Given the description of an element on the screen output the (x, y) to click on. 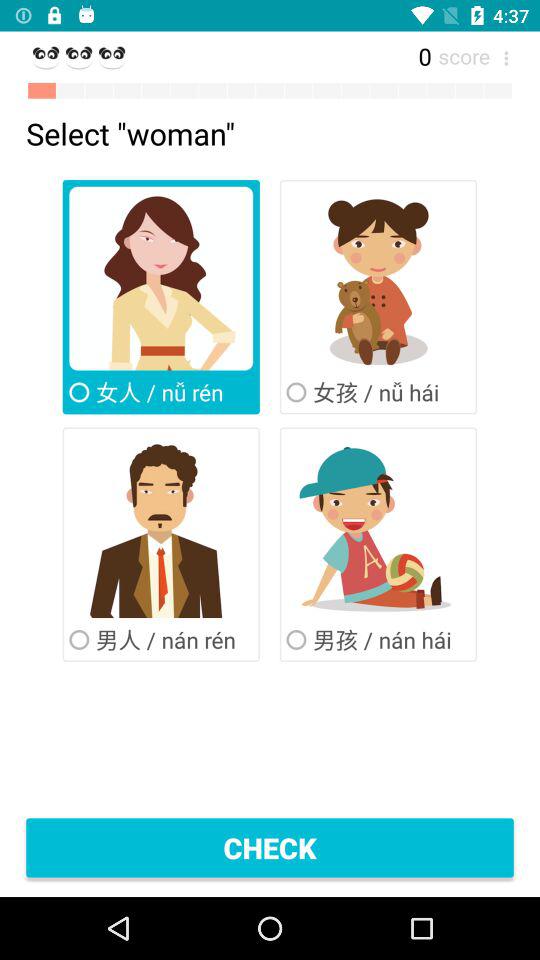
jump until the check icon (269, 847)
